Given the description of an element on the screen output the (x, y) to click on. 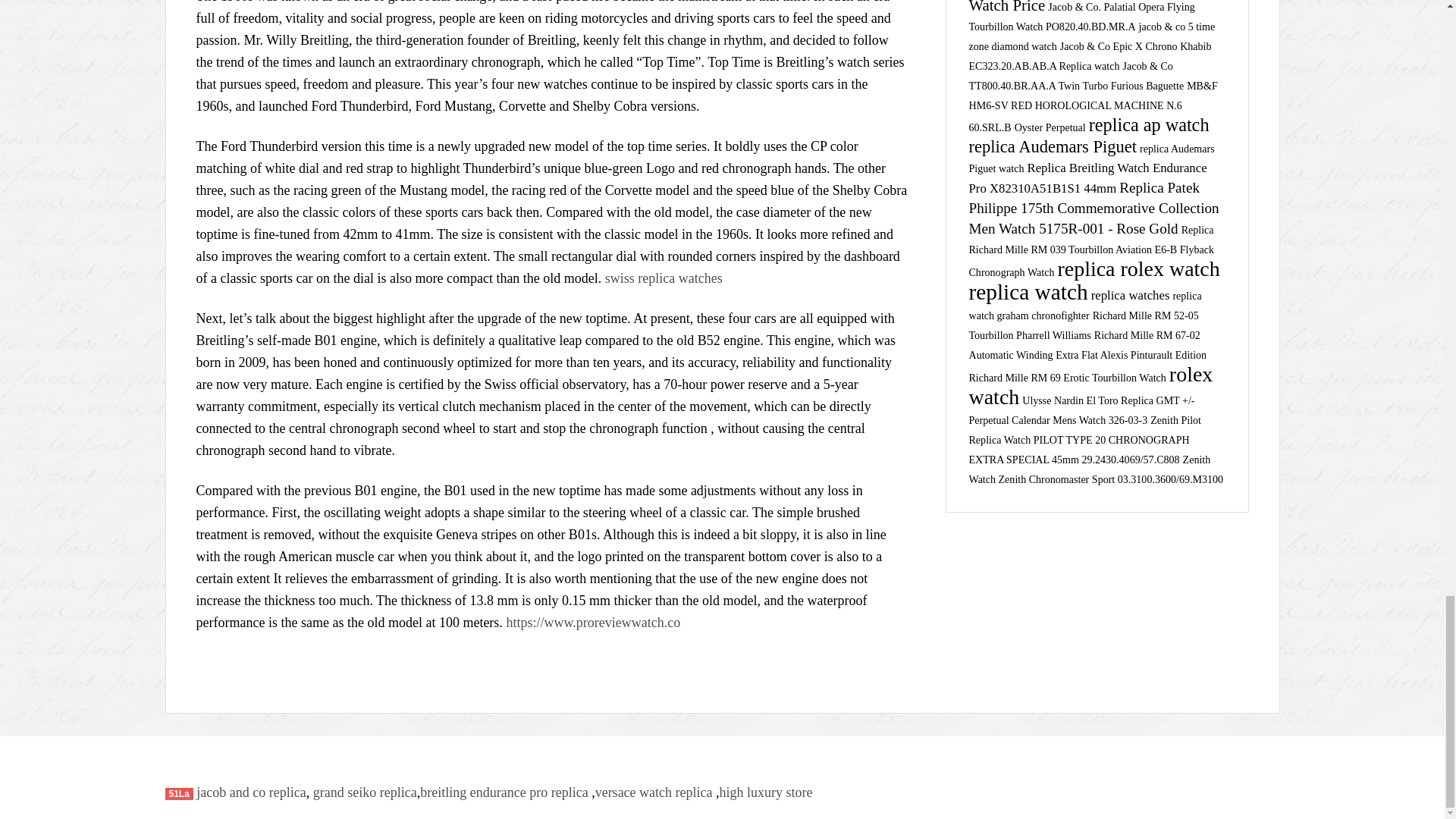
swiss replica watches (663, 278)
